Given the description of an element on the screen output the (x, y) to click on. 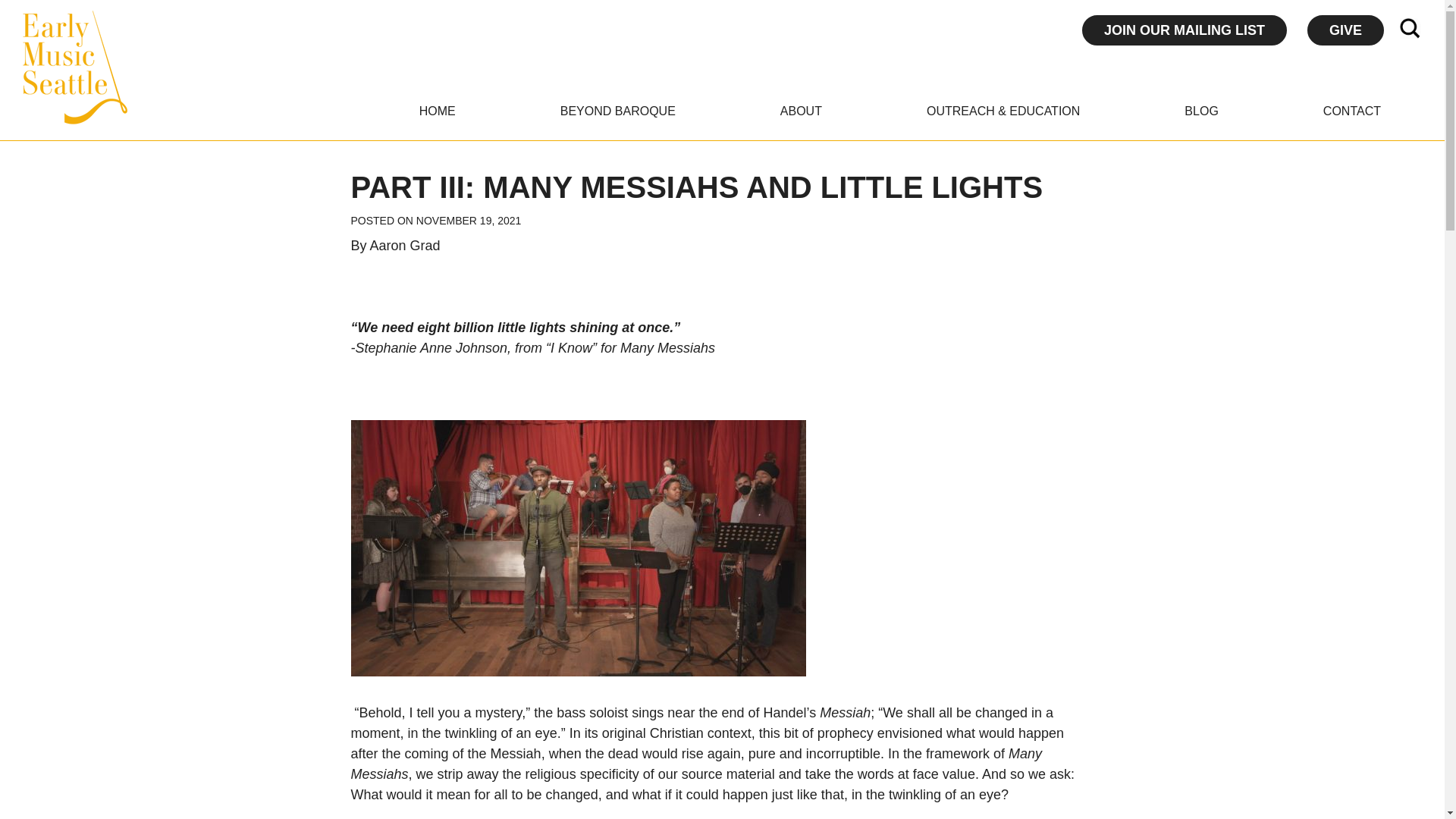
HOME (437, 111)
ABOUT (801, 111)
Search for: (1408, 28)
BLOG (1201, 111)
JOIN OUR MAILING LIST (1184, 30)
BEYOND BAROQUE (617, 111)
GIVE (1345, 30)
